Given the description of an element on the screen output the (x, y) to click on. 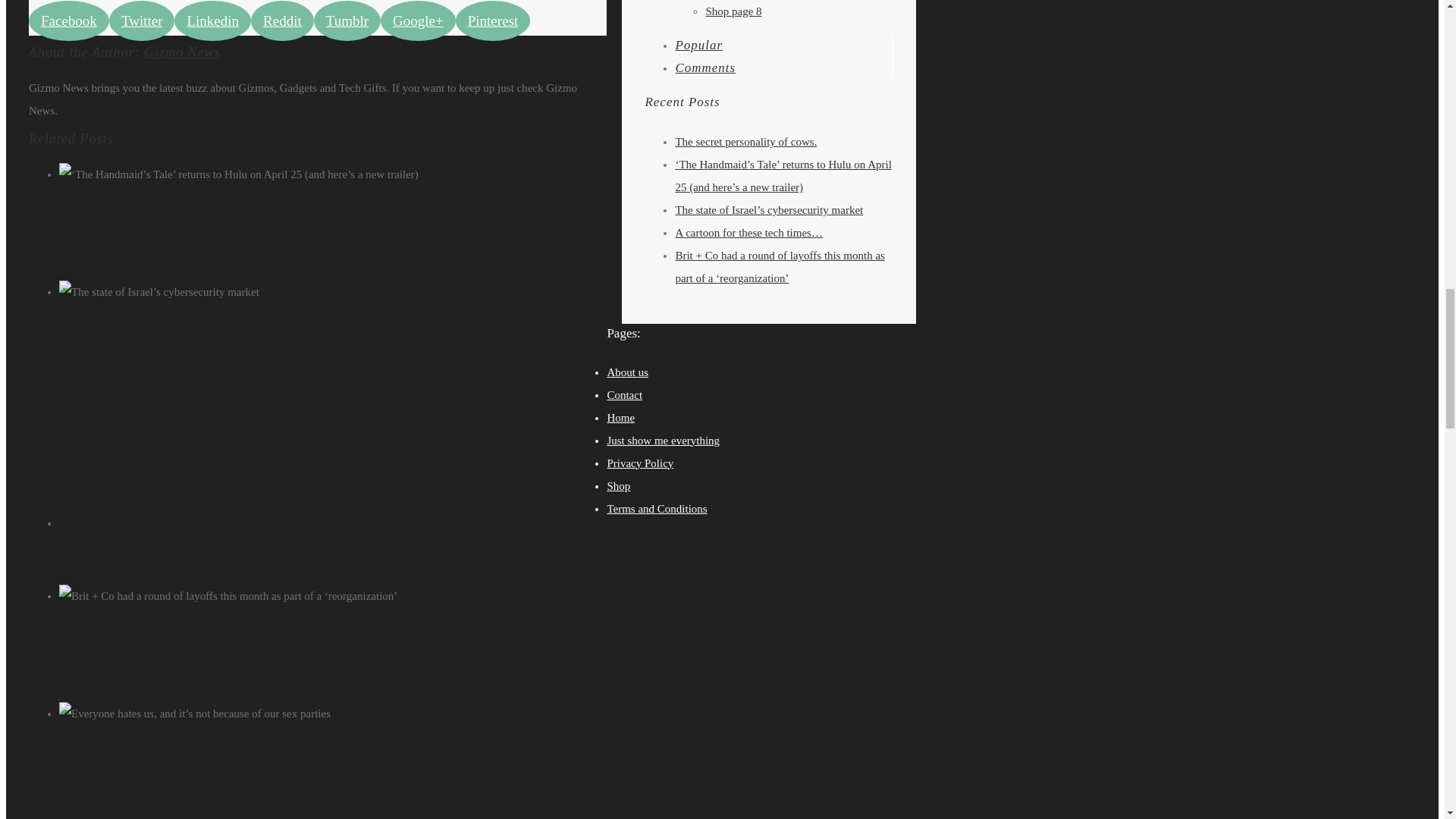
Facebook (69, 20)
Twitter (141, 20)
Pinterest (493, 20)
Reddit (282, 20)
Gizmo News (182, 52)
Posts by Gizmo News (182, 52)
Gallery (349, 219)
Pinterest (493, 20)
Twitter (141, 20)
Permalink (356, 314)
Permalink (356, 736)
Linkedin (212, 20)
Reddit (282, 20)
Linkedin (212, 20)
Tumblr (347, 20)
